Given the description of an element on the screen output the (x, y) to click on. 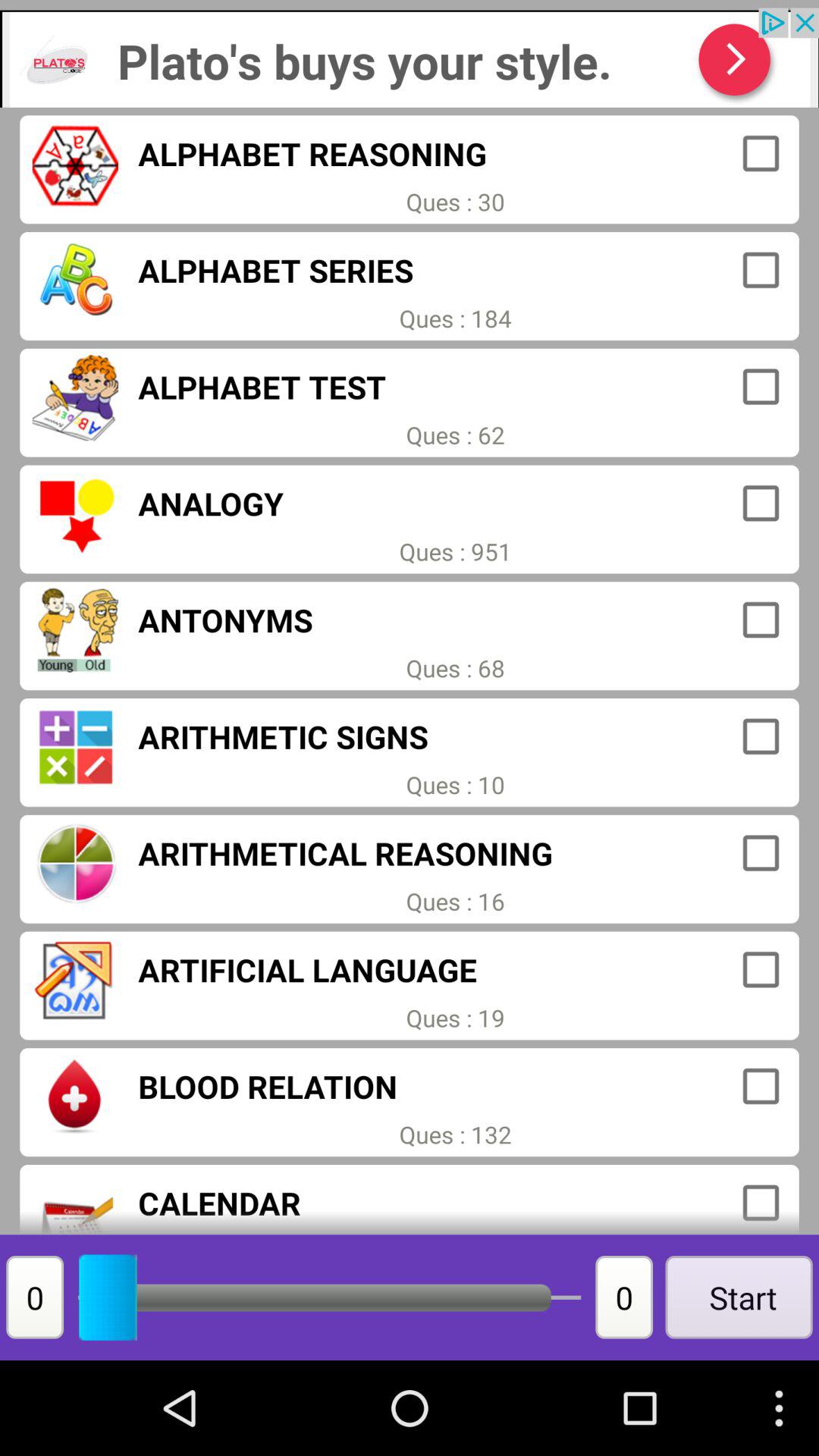
go yo advertisement (409, 57)
